Given the description of an element on the screen output the (x, y) to click on. 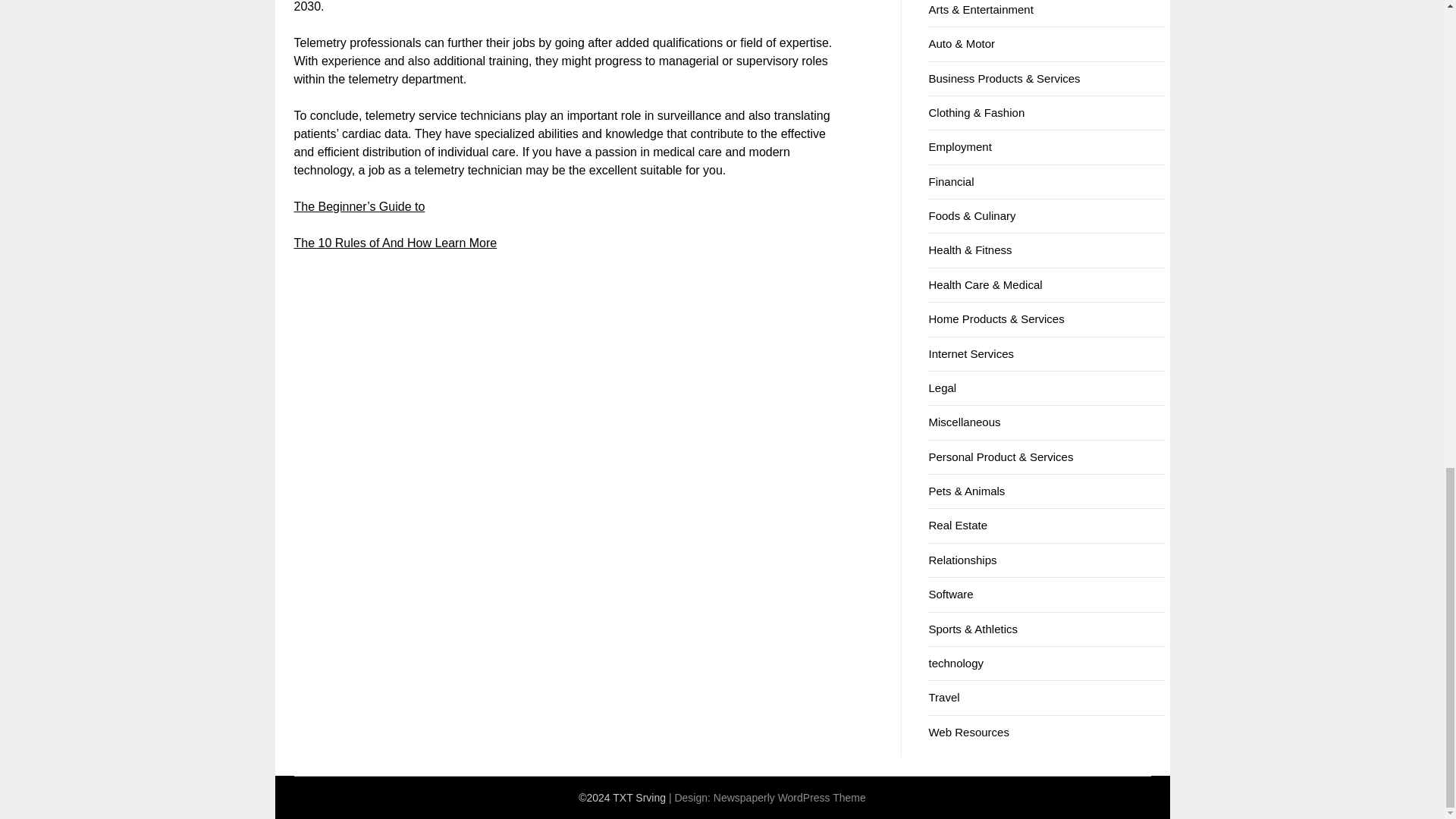
Legal (942, 387)
Employment (959, 146)
Financial (951, 181)
The 10 Rules of And How Learn More (395, 242)
Internet Services (970, 352)
